Given the description of an element on the screen output the (x, y) to click on. 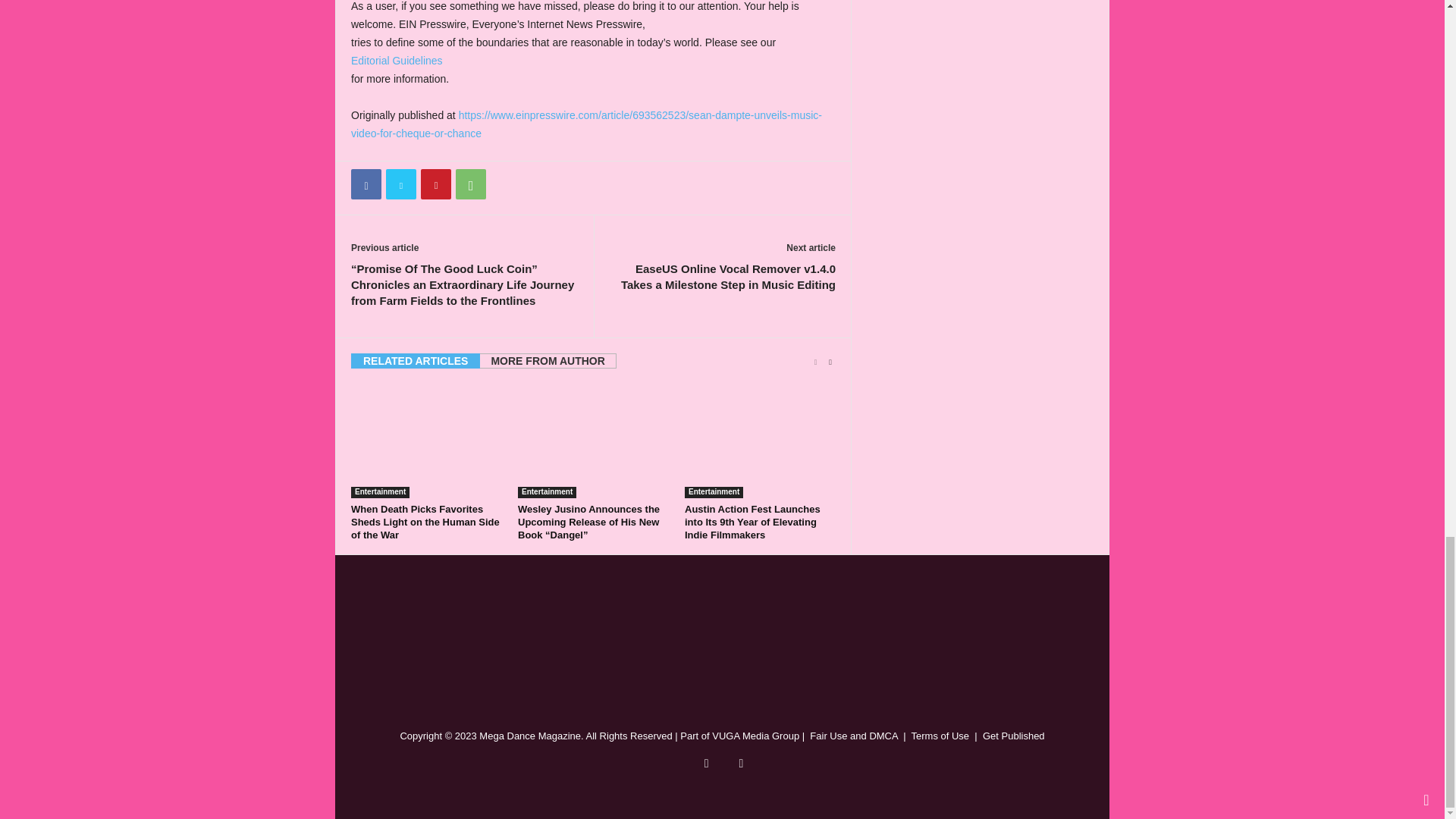
Twitter (400, 183)
Facebook (365, 183)
Editorial Guidelines (396, 60)
